Given the description of an element on the screen output the (x, y) to click on. 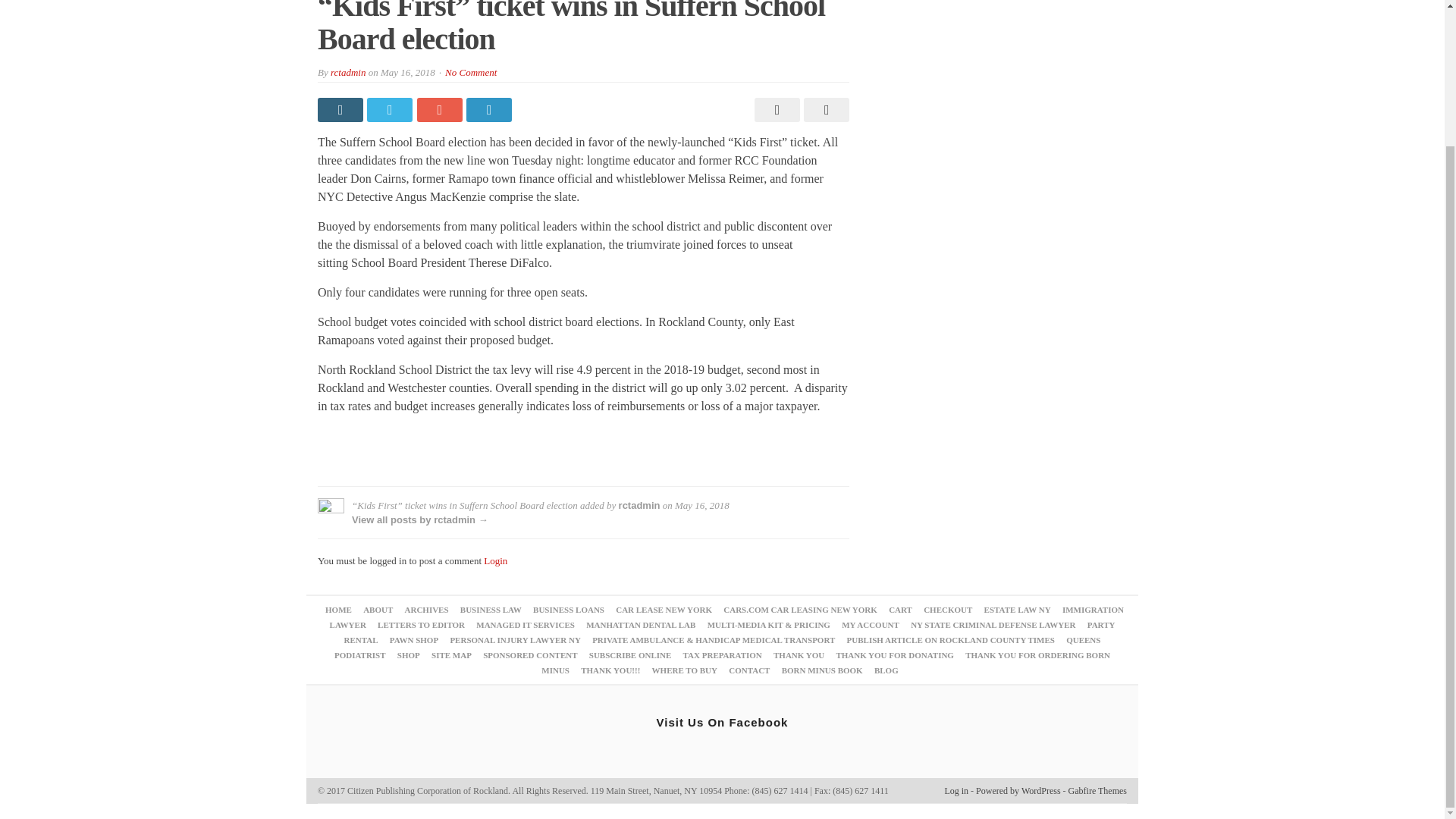
rctadmin (639, 505)
Share on Twitter (391, 109)
WordPress Newspaper Themes (1097, 790)
Share on Facebook (341, 109)
Share on LinkedIn (490, 109)
Login (494, 560)
No Comment (470, 71)
HOME (338, 609)
rctadmin (347, 71)
Send by Email (823, 109)
